Given the description of an element on the screen output the (x, y) to click on. 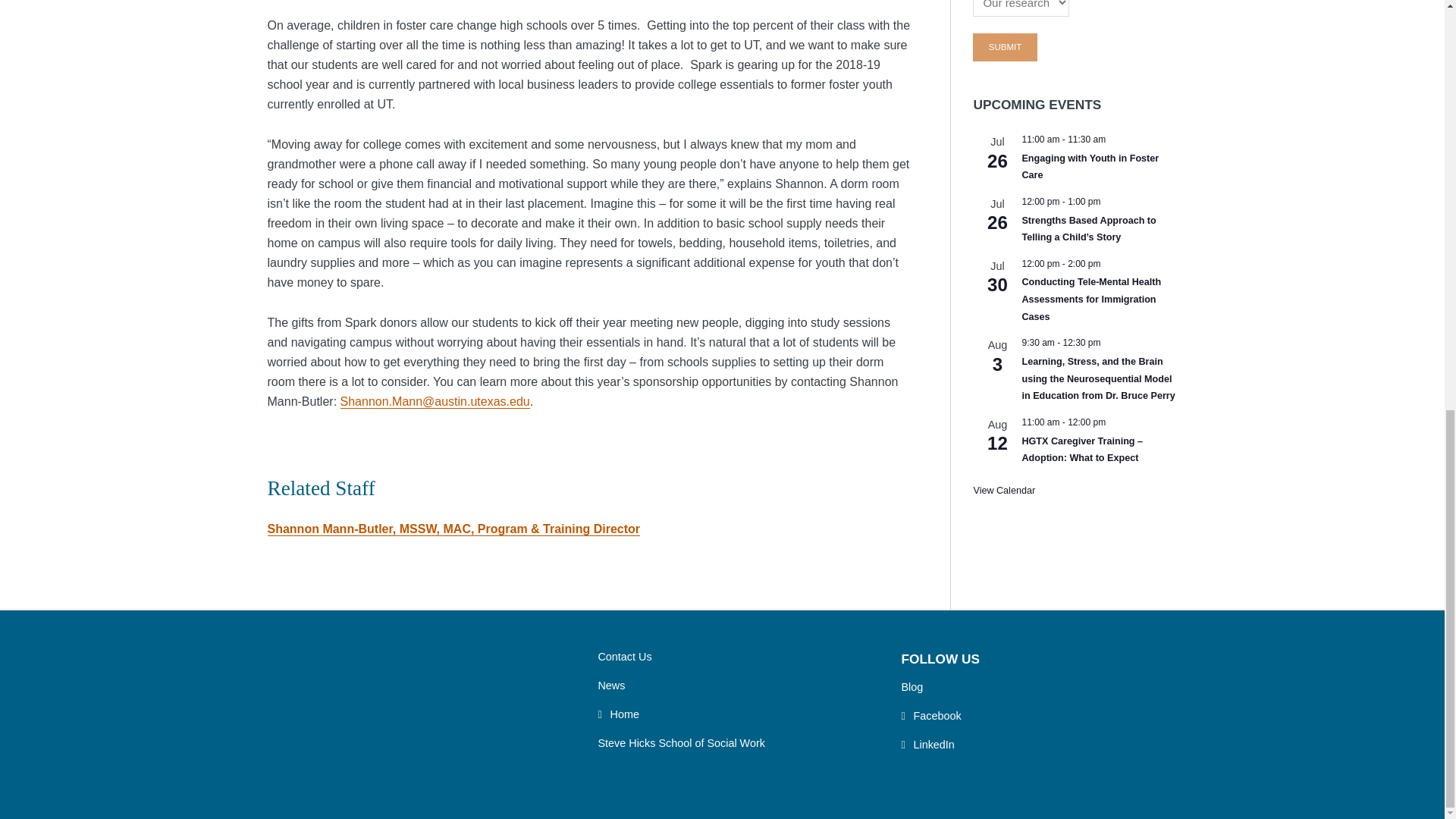
Engaging with Youth in Foster Care (1090, 166)
Submit (1004, 47)
View more events. (1003, 490)
